Given the description of an element on the screen output the (x, y) to click on. 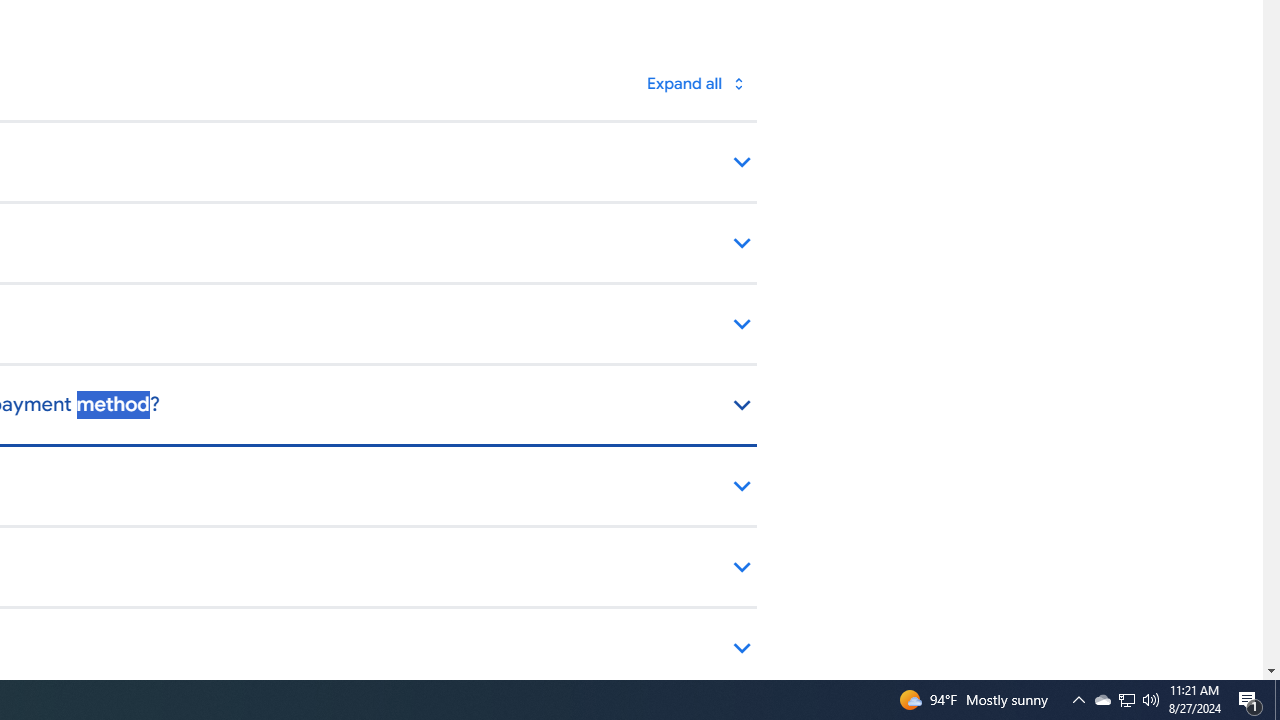
Toggle all (694, 83)
